Given the description of an element on the screen output the (x, y) to click on. 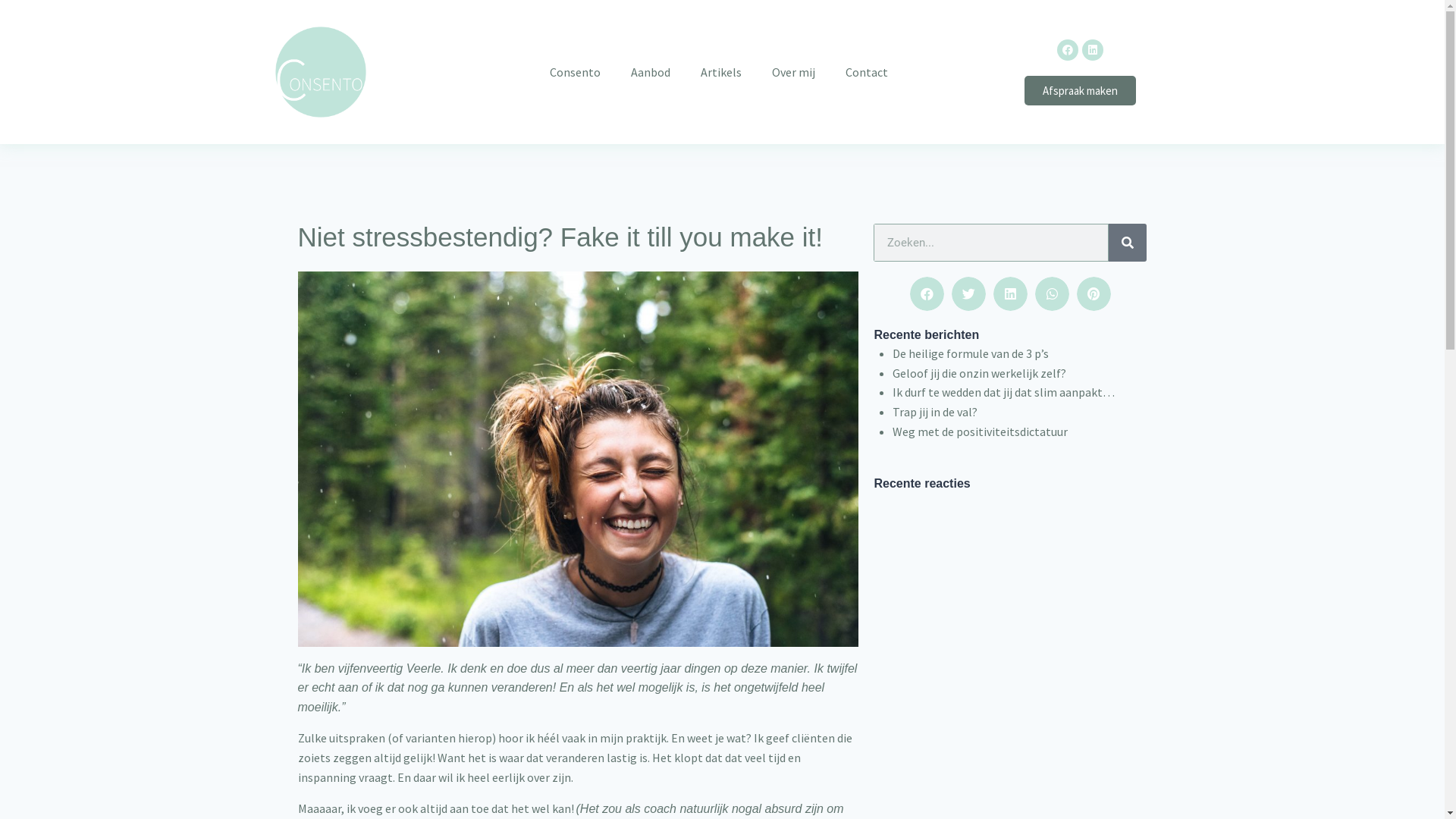
Afspraak maken Element type: text (1079, 90)
Consento Element type: text (574, 71)
Geloof jij die onzin werkelijk zelf? Element type: text (979, 372)
Artikels Element type: text (720, 71)
Trap jij in de val? Element type: text (934, 411)
Over mij Element type: text (793, 71)
Aanbod Element type: text (650, 71)
Weg met de positiviteitsdictatuur Element type: text (979, 431)
Contact Element type: text (866, 71)
